Given the description of an element on the screen output the (x, y) to click on. 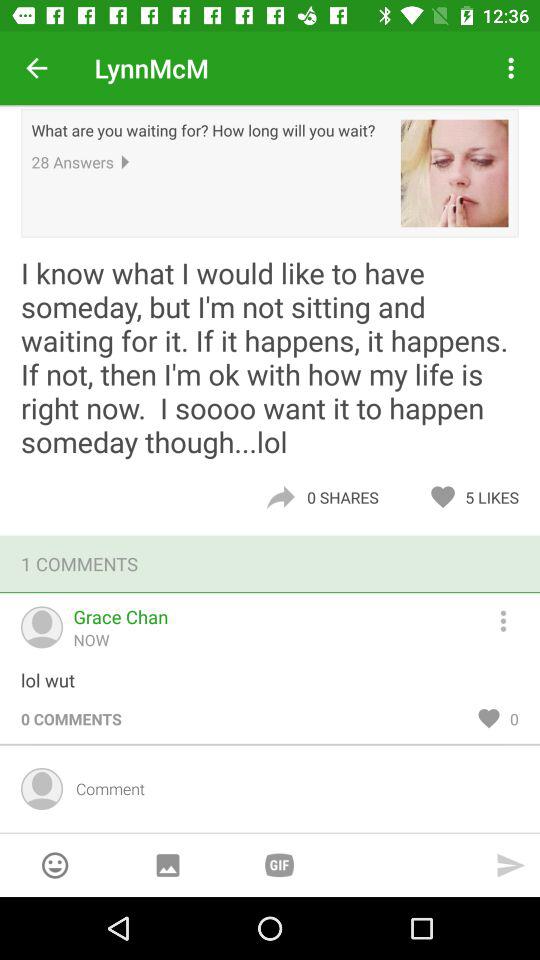
click the icon to the right of grace chan icon (512, 618)
